Given the description of an element on the screen output the (x, y) to click on. 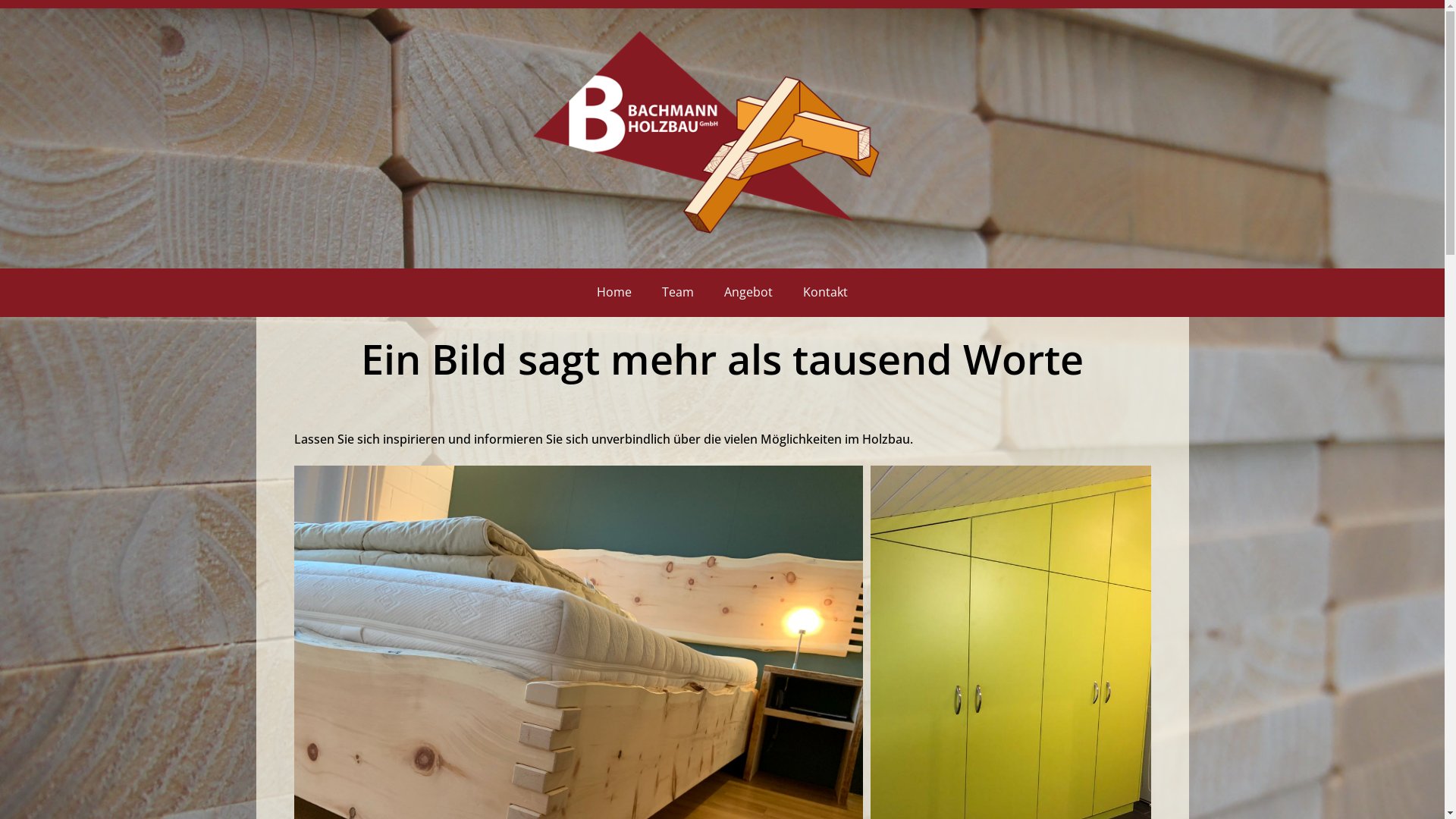
Team Element type: text (677, 292)
Angebot Element type: text (748, 292)
Home Element type: text (613, 292)
Kontakt Element type: text (824, 292)
